Given the description of an element on the screen output the (x, y) to click on. 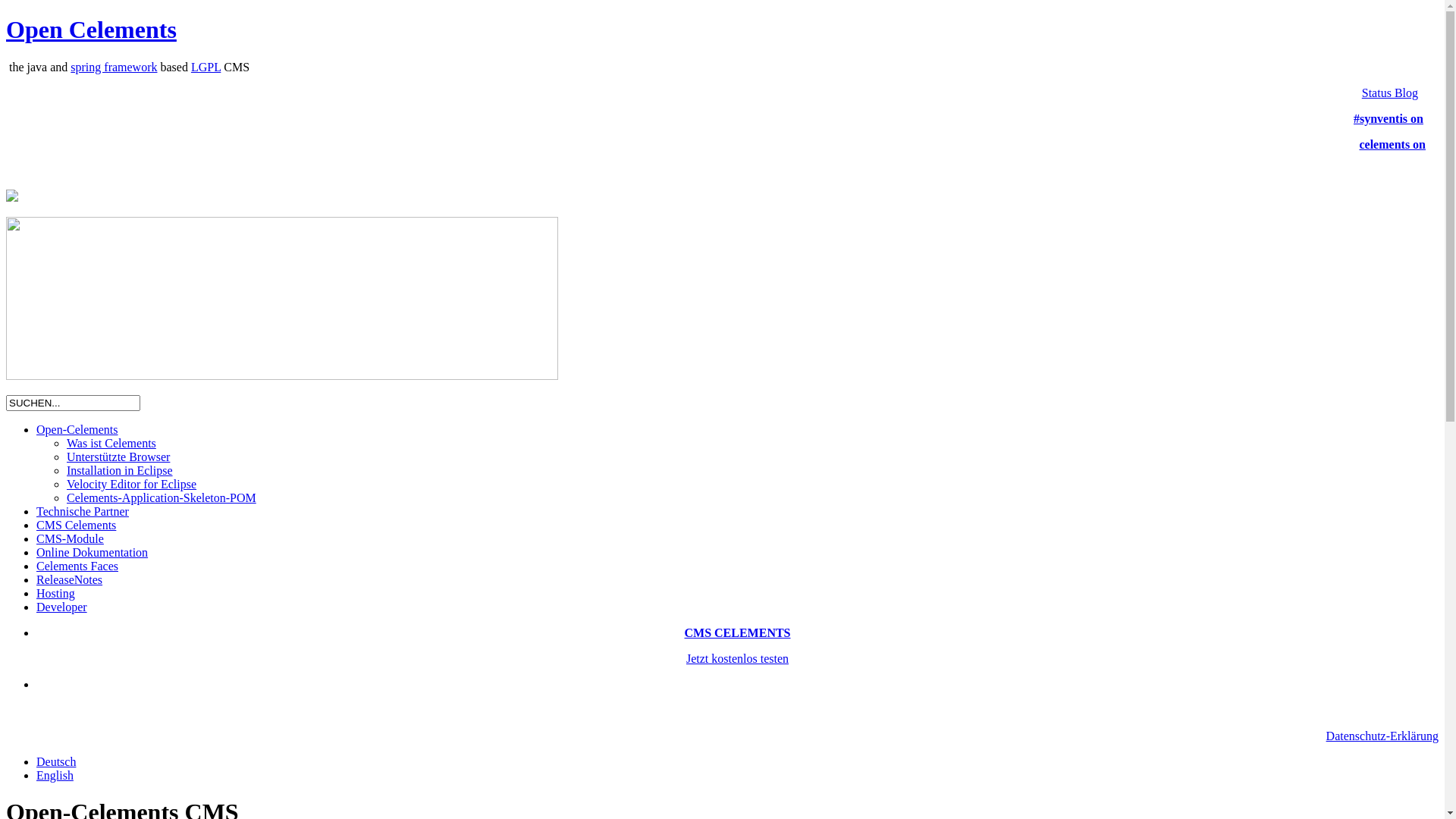
Was ist Celements Element type: text (111, 442)
celements on Element type: text (1391, 144)
Jetzt kostenlos testen Element type: text (737, 658)
LGPL Element type: text (205, 66)
Installation in Eclipse Element type: text (119, 470)
#synventis on Element type: text (1388, 118)
ReleaseNotes Element type: text (69, 579)
Hosting Element type: text (55, 592)
CMS Celements Element type: text (76, 524)
Open-Celements Element type: text (77, 429)
Velocity Editor for Eclipse Element type: text (131, 483)
Celements Faces Element type: text (77, 565)
English Element type: text (54, 774)
CMS-Module Element type: text (69, 538)
Developer Element type: text (61, 606)
Online Dokumentation Element type: text (91, 552)
Deutsch Element type: text (55, 761)
Status Blog Element type: text (1389, 92)
Celements-Application-Skeleton-POM Element type: text (161, 497)
CMS CELEMENTS Element type: text (737, 632)
spring framework Element type: text (113, 66)
Technische Partner Element type: text (82, 511)
Open Celements Element type: text (91, 29)
